Given the description of an element on the screen output the (x, y) to click on. 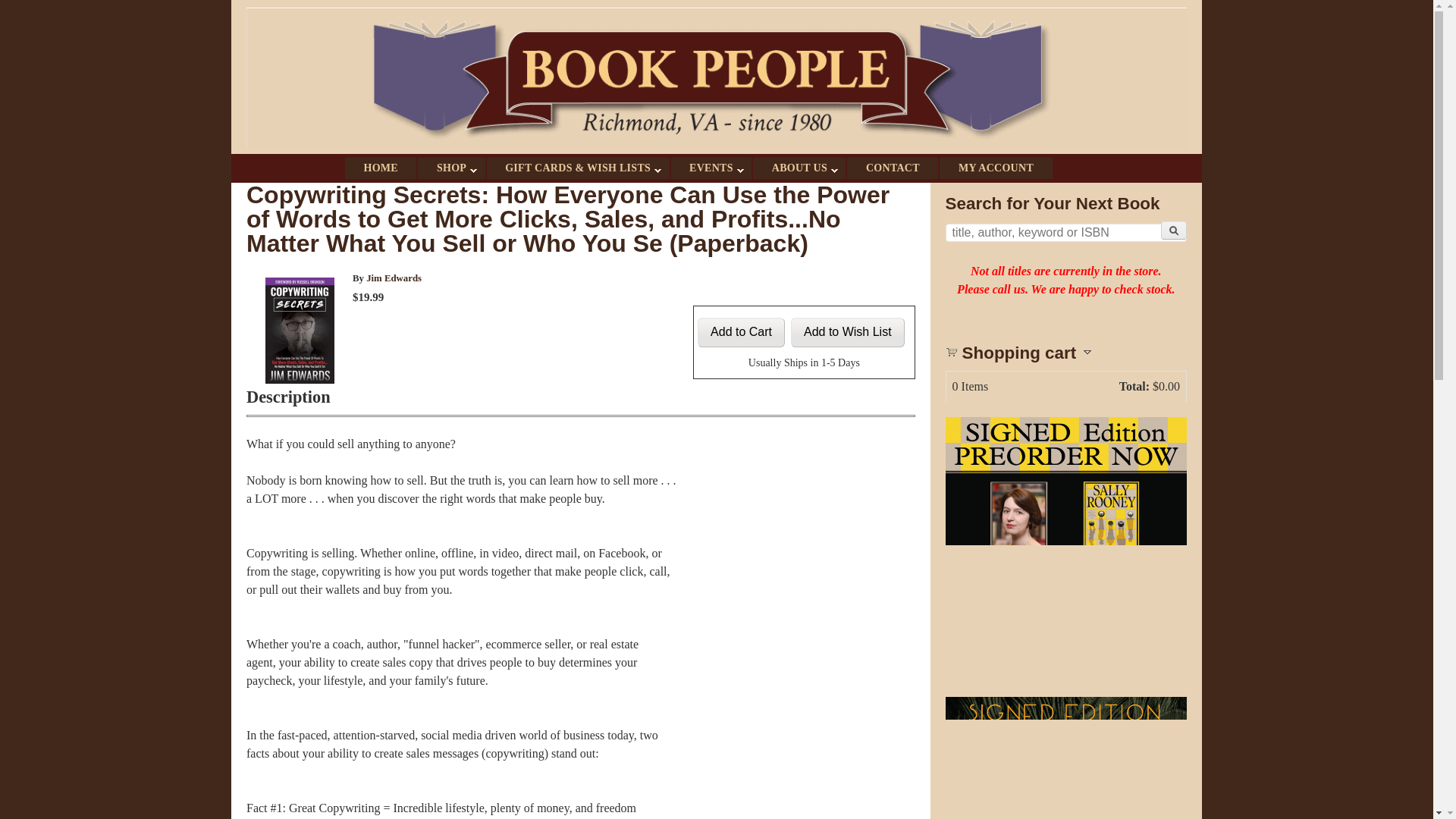
Add to Cart (740, 332)
Search (1173, 230)
Home page (716, 144)
Add to Cart (740, 332)
MY ACCOUNT (995, 168)
Add to Wish List (847, 332)
Enter the terms you wish to search for. (1065, 232)
View your shopping cart. (951, 350)
CONTACT (892, 168)
